Given the description of an element on the screen output the (x, y) to click on. 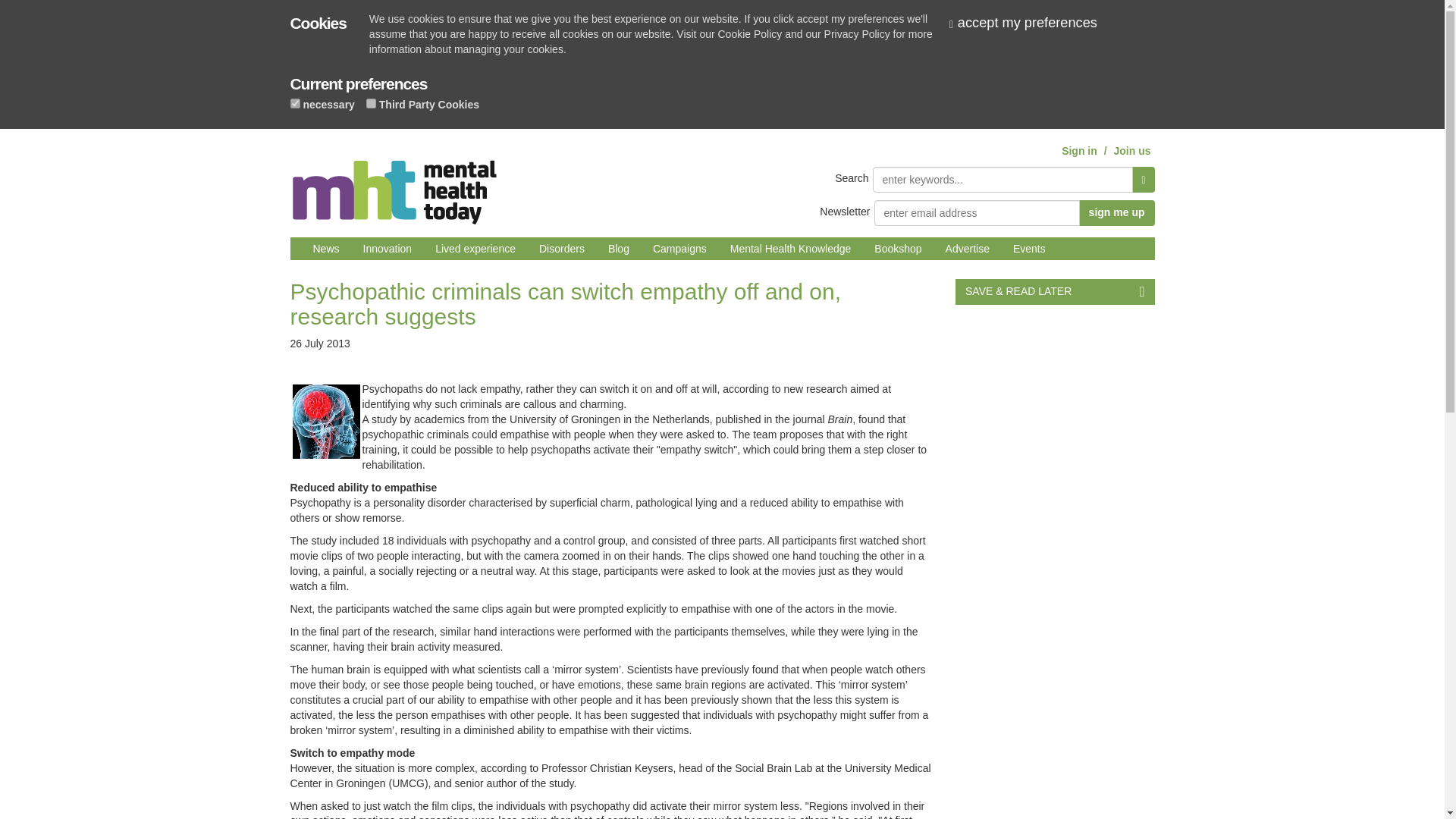
Events (1029, 248)
Save and read this article later (1054, 291)
Sign in to your account (1079, 150)
Cookie Policy (749, 33)
Privacy Policy (856, 33)
Join us (1131, 150)
Join us (1131, 150)
Third Party Cookies (370, 103)
continue (1029, 22)
Sign me up (1116, 212)
Blog (618, 248)
News (325, 248)
MHT (393, 185)
Mental Health Knowledge (791, 248)
Bookshop (898, 248)
